Given the description of an element on the screen output the (x, y) to click on. 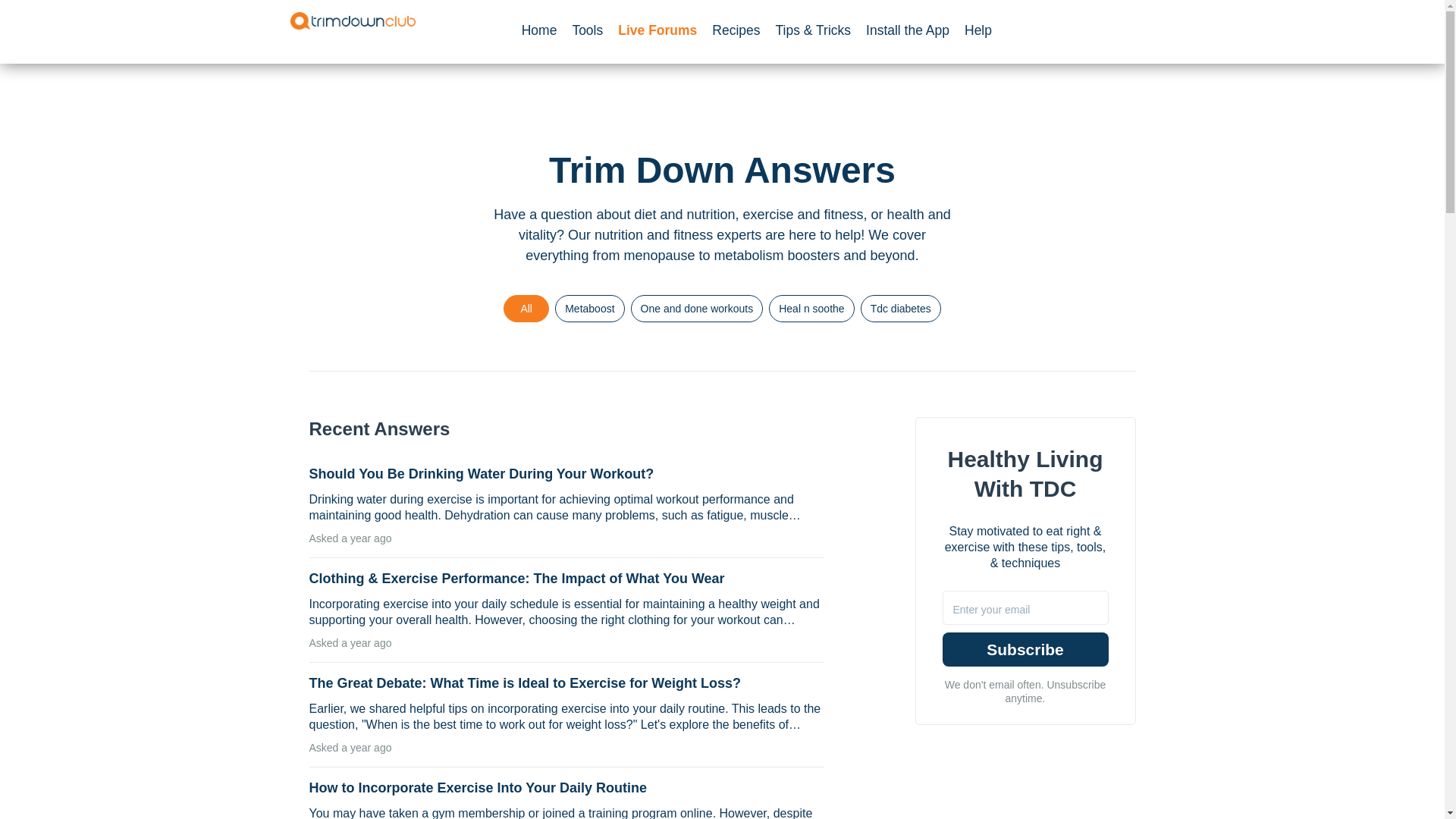
Recipes (735, 30)
Trim Down Club - Where YOU and weight loss friends meet! (351, 19)
Live Forums (657, 30)
Trim Down Club (351, 19)
Install the App (907, 30)
Home (542, 30)
Tools (587, 30)
